Given the description of an element on the screen output the (x, y) to click on. 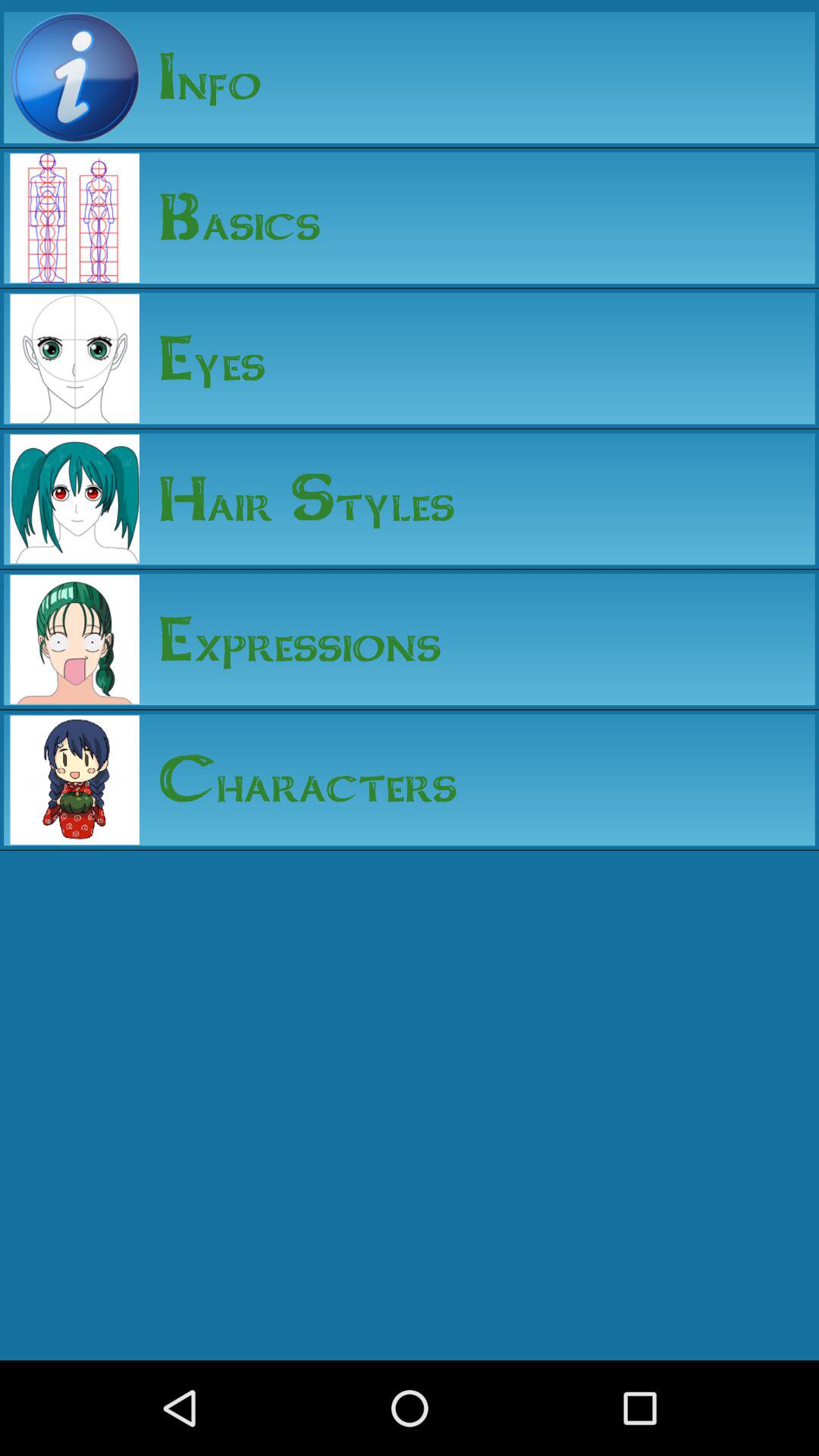
tap the expressions icon (290, 638)
